Given the description of an element on the screen output the (x, y) to click on. 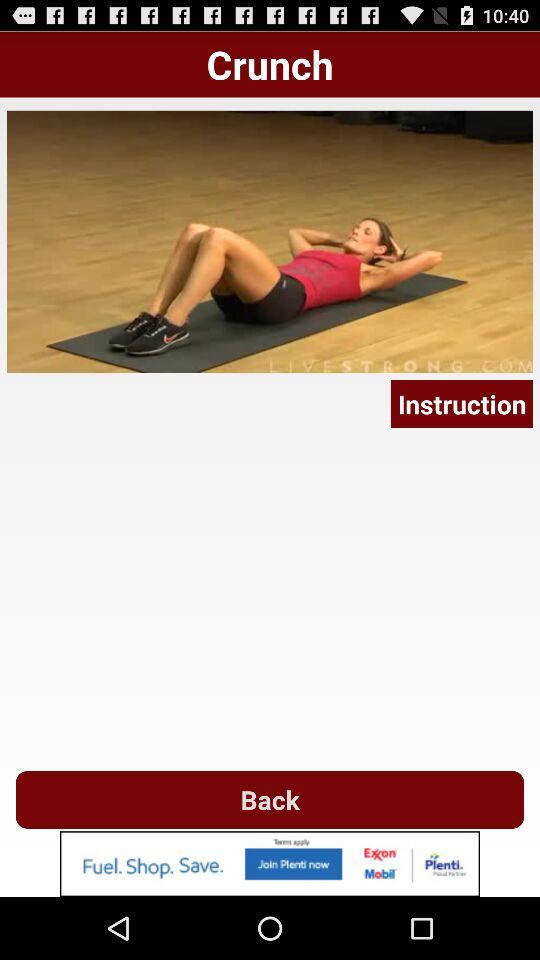
open advertisement (270, 864)
